Given the description of an element on the screen output the (x, y) to click on. 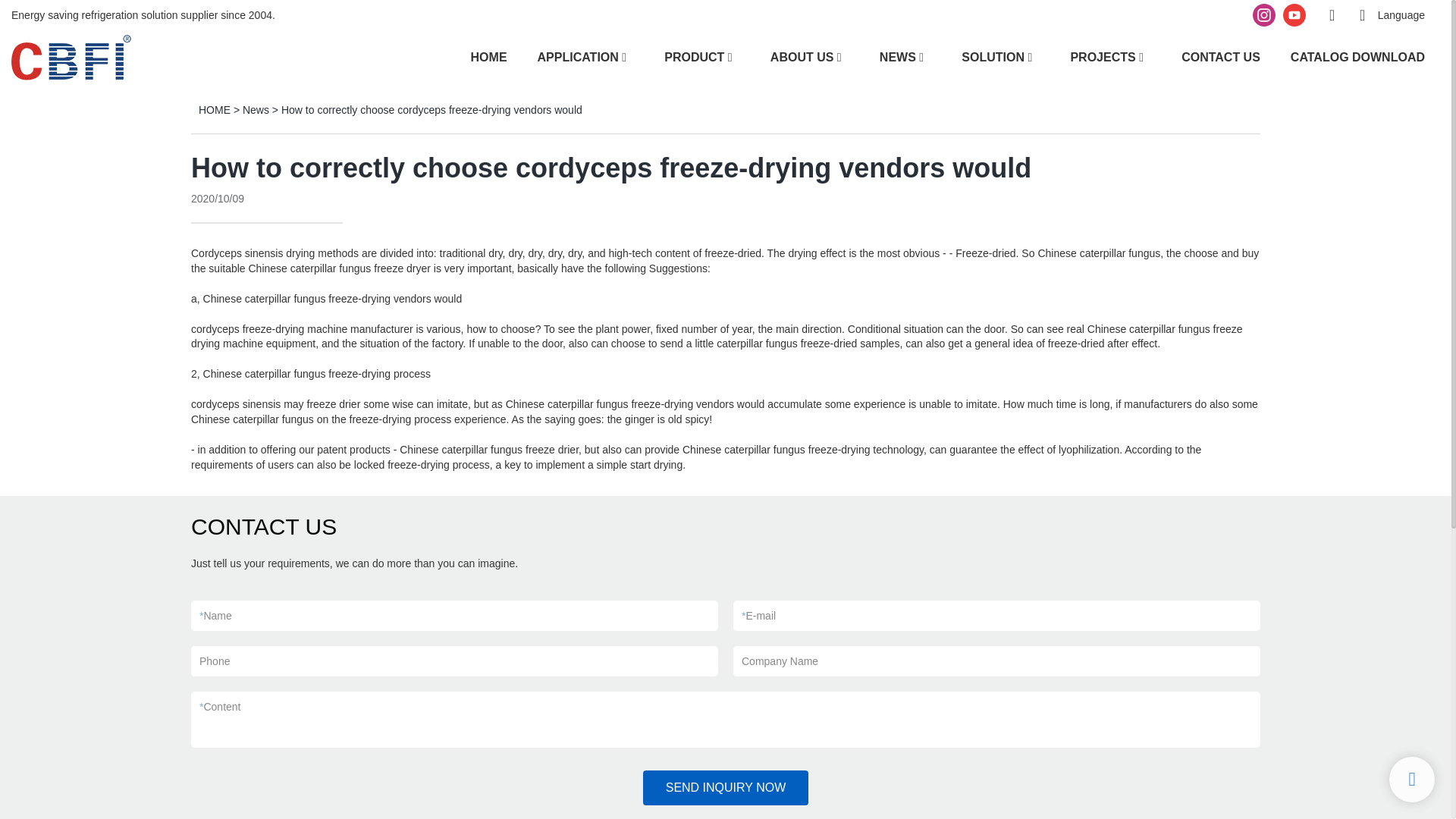
APPLICATION (577, 56)
HOME (488, 56)
instagram (1264, 15)
youtube (1293, 15)
PRODUCT (693, 56)
